Given the description of an element on the screen output the (x, y) to click on. 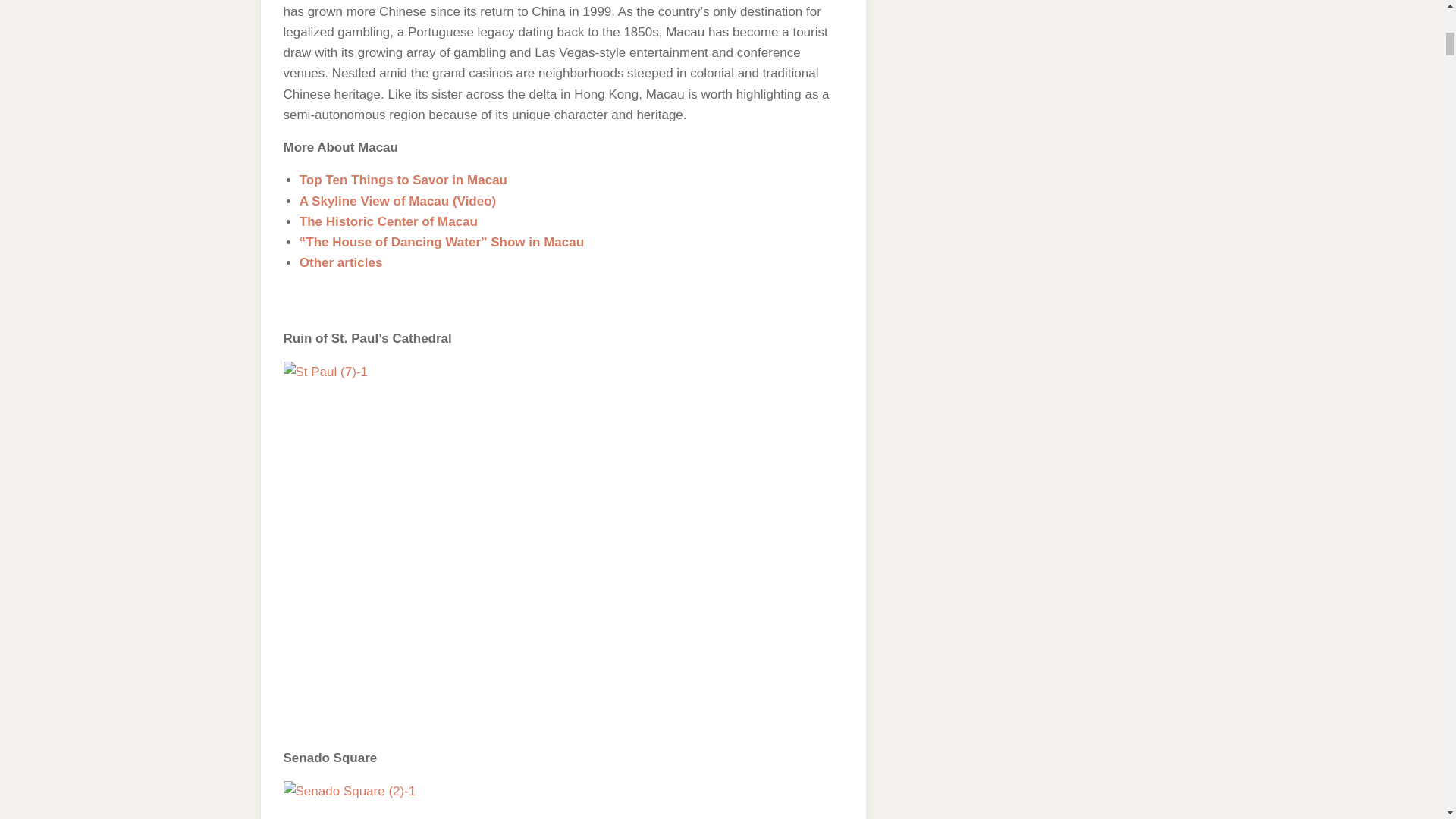
Other articles (340, 262)
Top Ten Things to Savor in Macau (402, 179)
The Historic Center of Macau (388, 221)
